Given the description of an element on the screen output the (x, y) to click on. 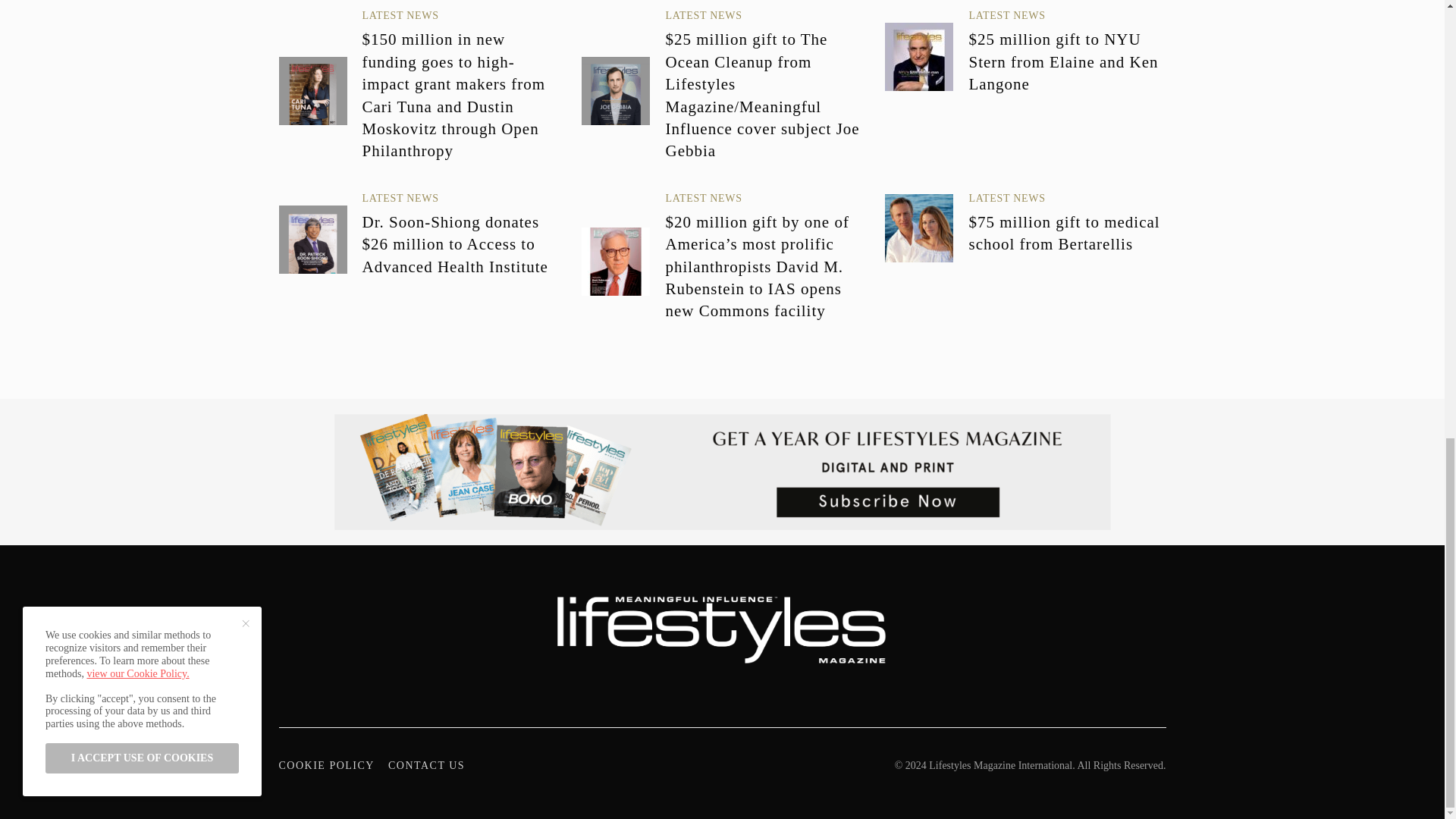
LATEST NEWS (1006, 197)
Lifestyles Magazine (722, 626)
LATEST NEWS (703, 197)
LATEST NEWS (400, 15)
LATEST NEWS (703, 15)
LATEST NEWS (1006, 15)
LATEST NEWS (400, 197)
